Given the description of an element on the screen output the (x, y) to click on. 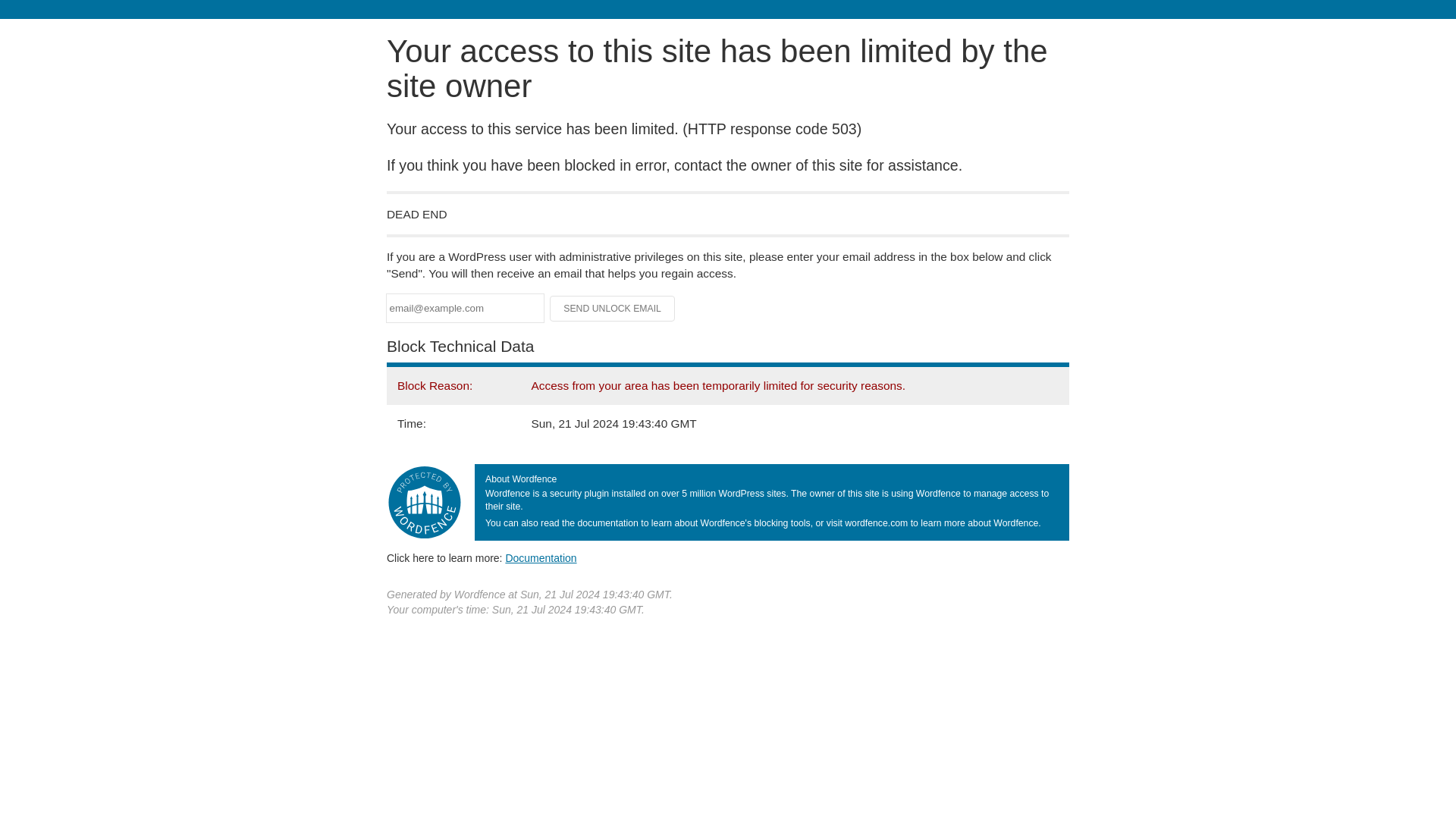
Send Unlock Email (612, 308)
Send Unlock Email (612, 308)
Documentation (540, 558)
